Given the description of an element on the screen output the (x, y) to click on. 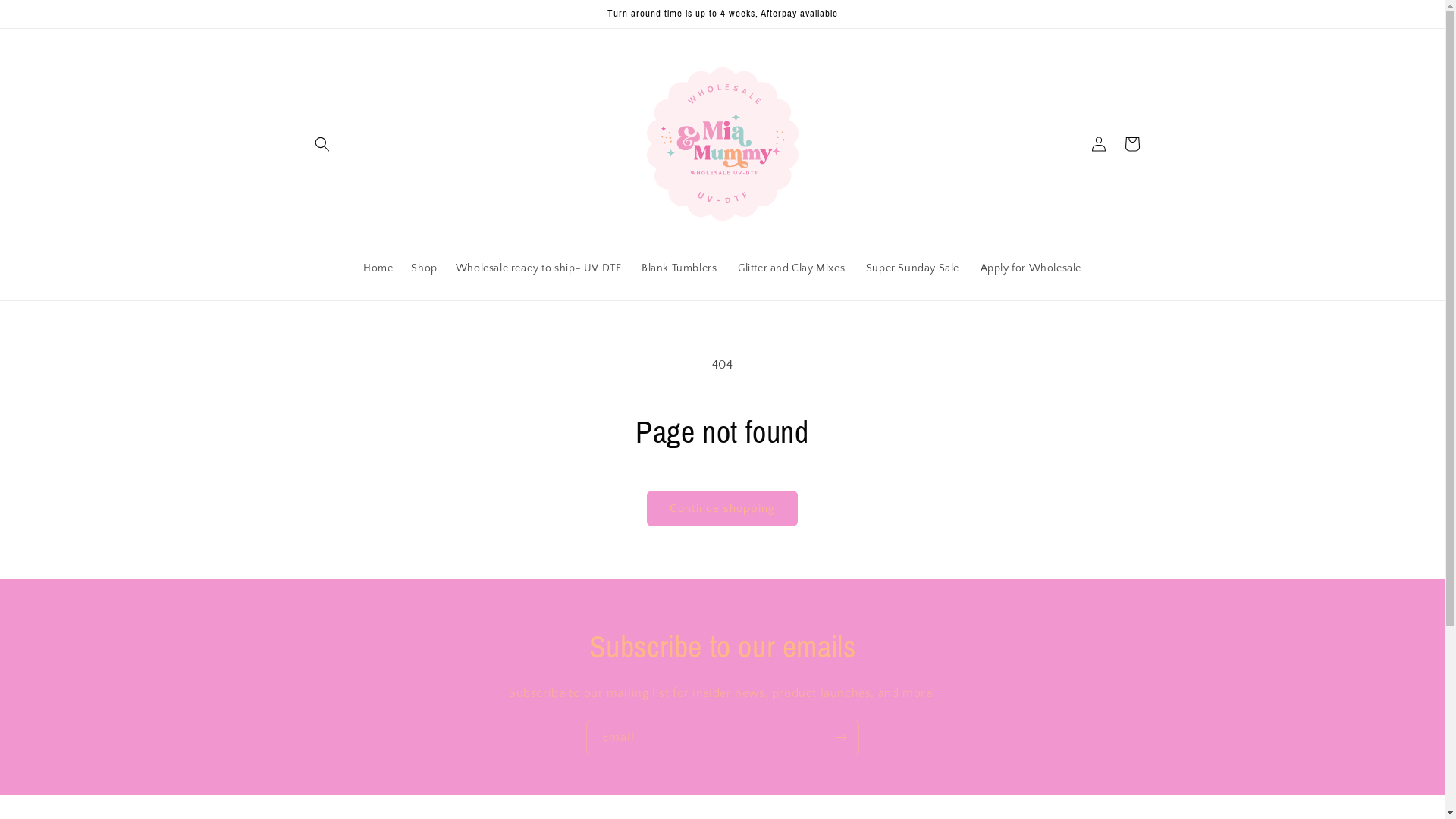
Blank Tumblers. Element type: text (680, 268)
Continue shopping Element type: text (721, 508)
Shop Element type: text (423, 268)
Log in Element type: text (1097, 143)
Home Element type: text (377, 268)
Glitter and Clay Mixes. Element type: text (792, 268)
Wholesale ready to ship- UV DTF. Element type: text (539, 268)
Cart Element type: text (1131, 143)
Super Sunday Sale. Element type: text (913, 268)
Apply for Wholesale Element type: text (1030, 268)
